Given the description of an element on the screen output the (x, y) to click on. 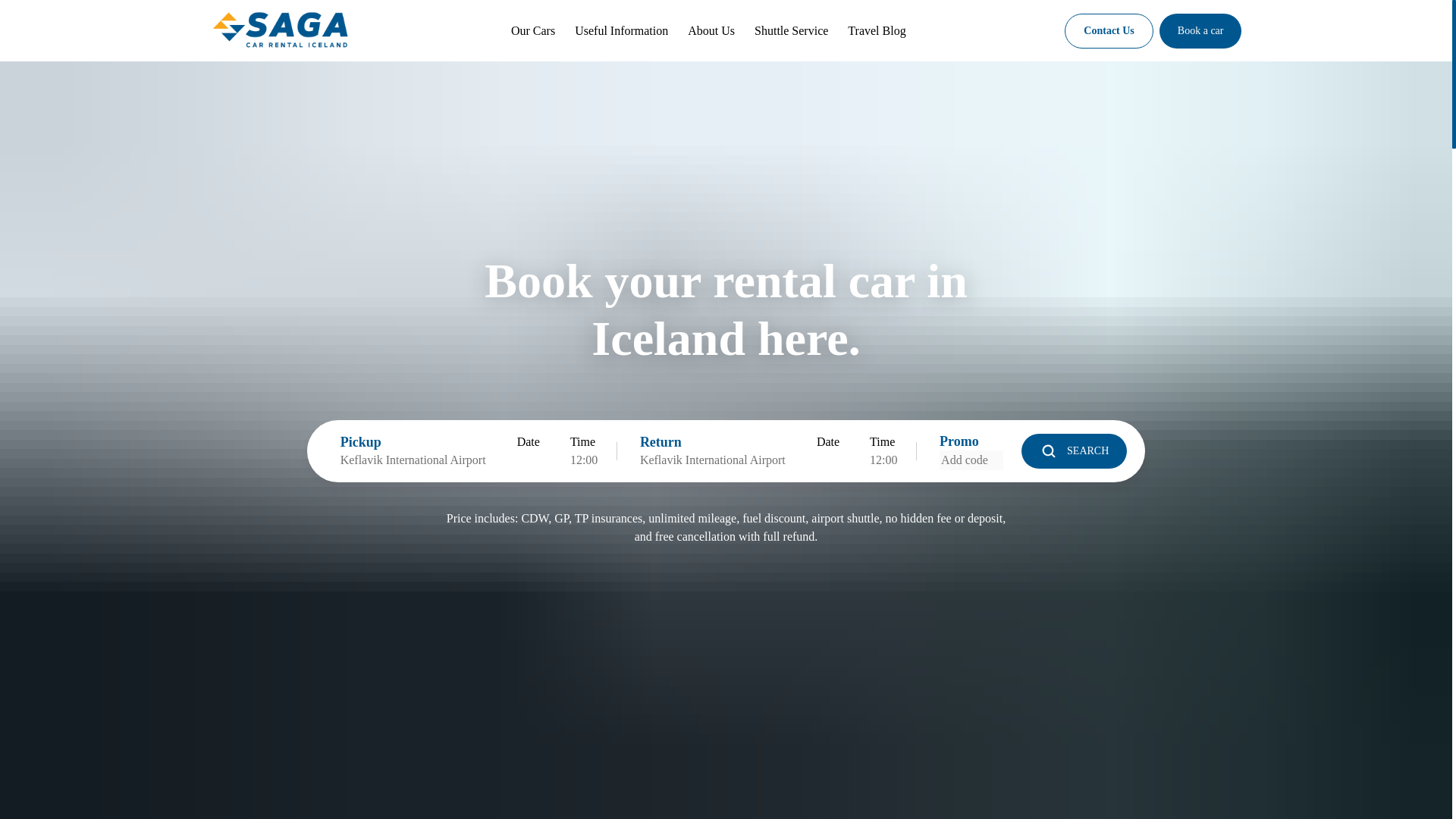
Travel Blog (876, 31)
Shuttle Service (791, 31)
Our Cars (532, 31)
Contact Us (1108, 30)
SEARCH (1074, 451)
Book a car (1199, 30)
Useful Information (621, 31)
About Us (711, 31)
